Given the description of an element on the screen output the (x, y) to click on. 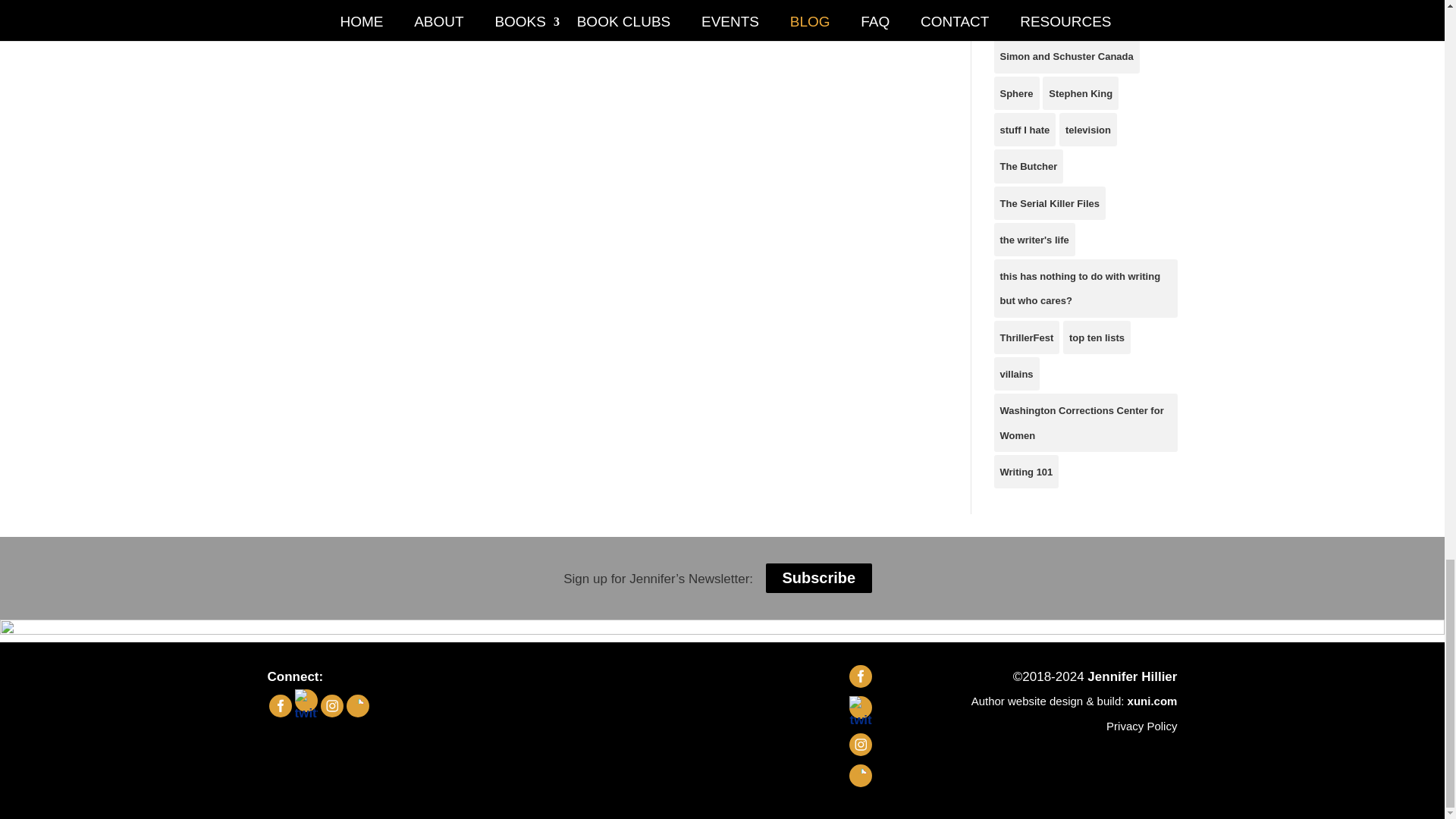
Sphere (1015, 92)
silliness (1017, 19)
Simon and Schuster (1102, 19)
Simon and Schuster Canada (1065, 55)
